Given the description of an element on the screen output the (x, y) to click on. 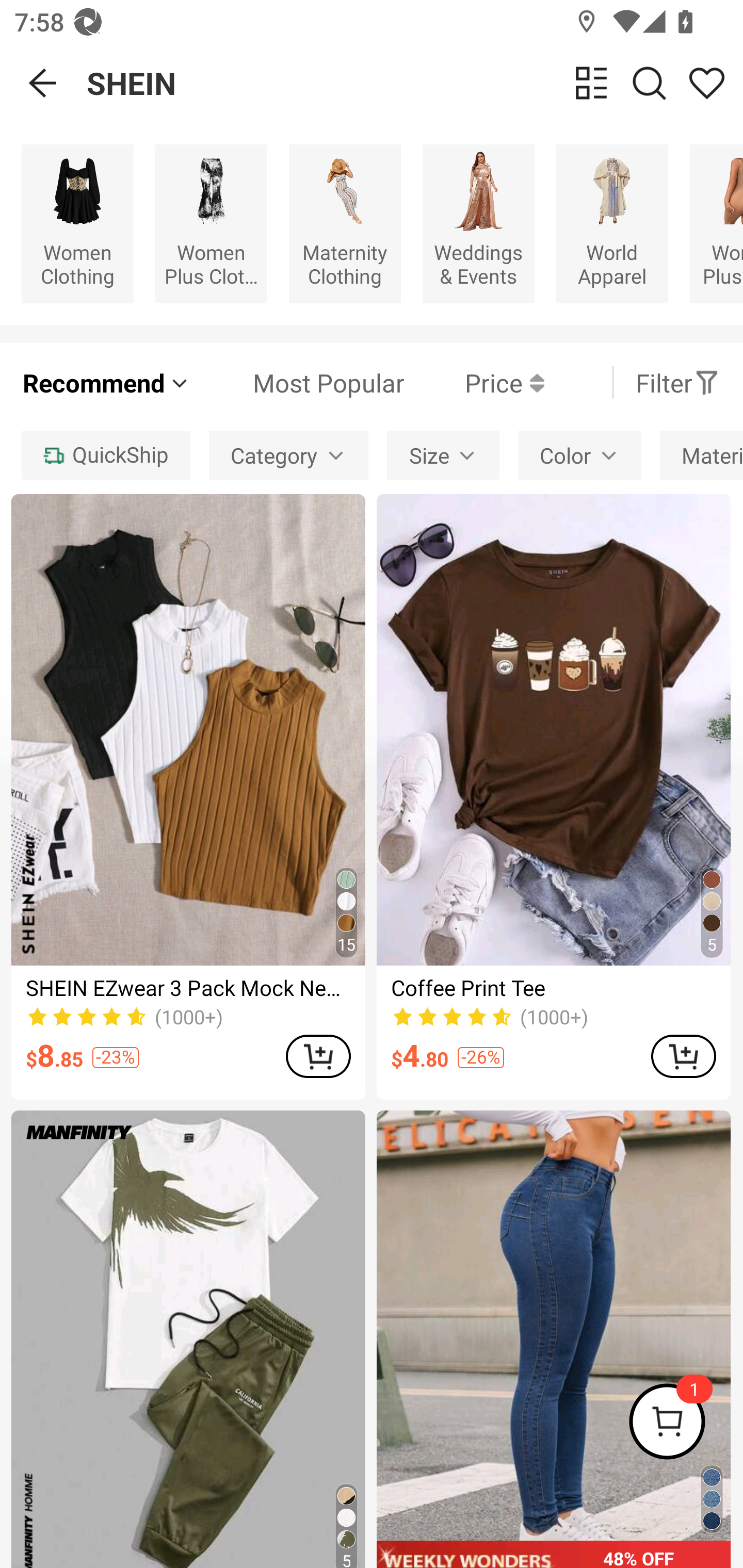
SHEIN change view Search Share (414, 82)
change view (591, 82)
Search (648, 82)
Share (706, 82)
Women Clothing (77, 223)
Women Clothing (77, 223)
Women Plus Clothing (211, 223)
Women Plus Clothing (211, 223)
Maternity Clothing (345, 223)
Maternity Clothing (345, 223)
Weddings & Events (478, 223)
Weddings & Events (478, 223)
World Apparel (611, 223)
World Apparel (611, 223)
Women Plus Intimates (716, 223)
Recommend (106, 382)
Most Popular (297, 382)
Price (474, 382)
Filter (677, 382)
QuickShip (105, 455)
Category (288, 455)
Size (443, 455)
Color (579, 455)
Material (701, 455)
ADD TO CART (318, 1056)
ADD TO CART (683, 1056)
Women's Slim Fit Denim Pants 48% OFF (553, 1339)
